Given the description of an element on the screen output the (x, y) to click on. 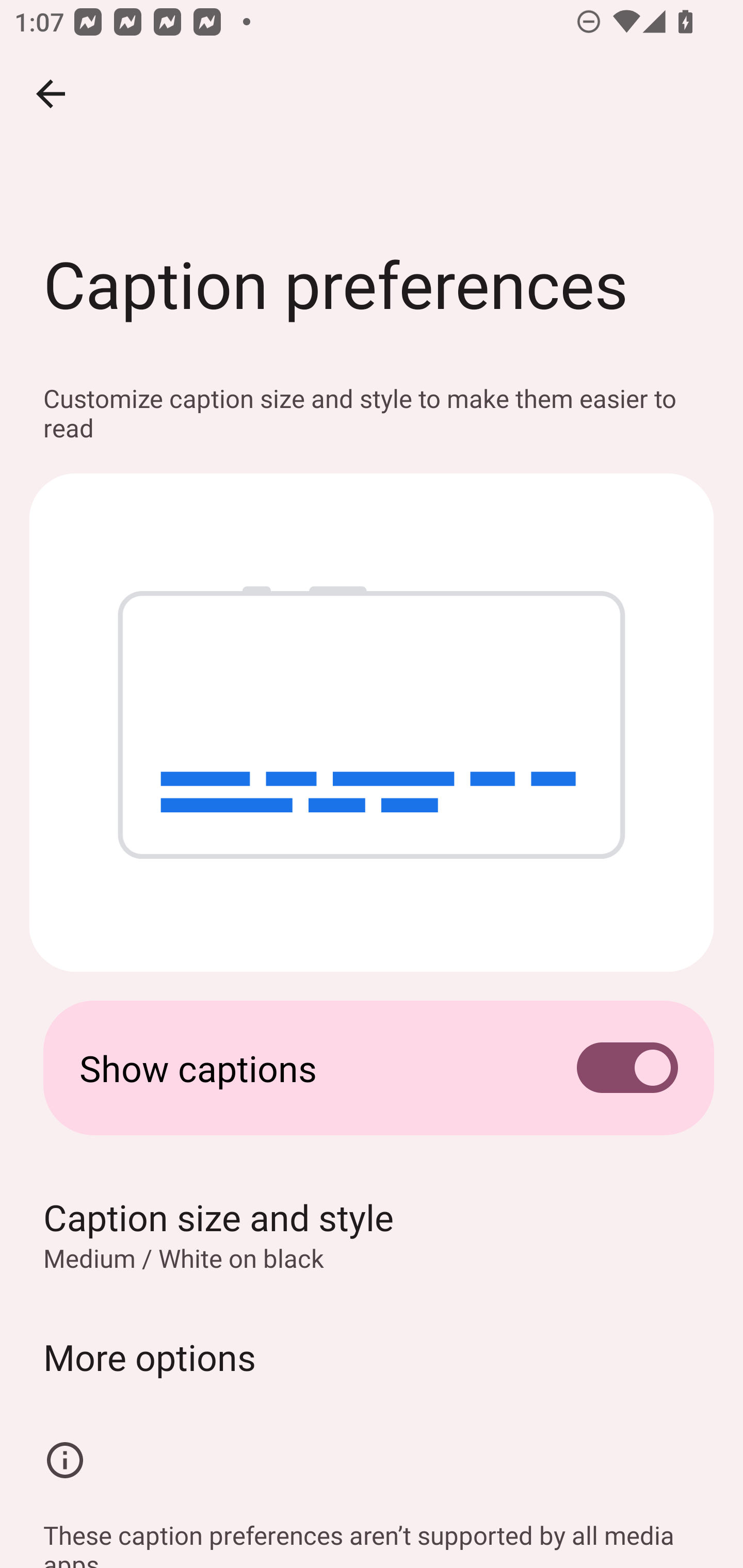
Navigate up (50, 93)
Show captions (371, 1067)
Caption size and style Medium / White on black (371, 1233)
More options (371, 1356)
